Given the description of an element on the screen output the (x, y) to click on. 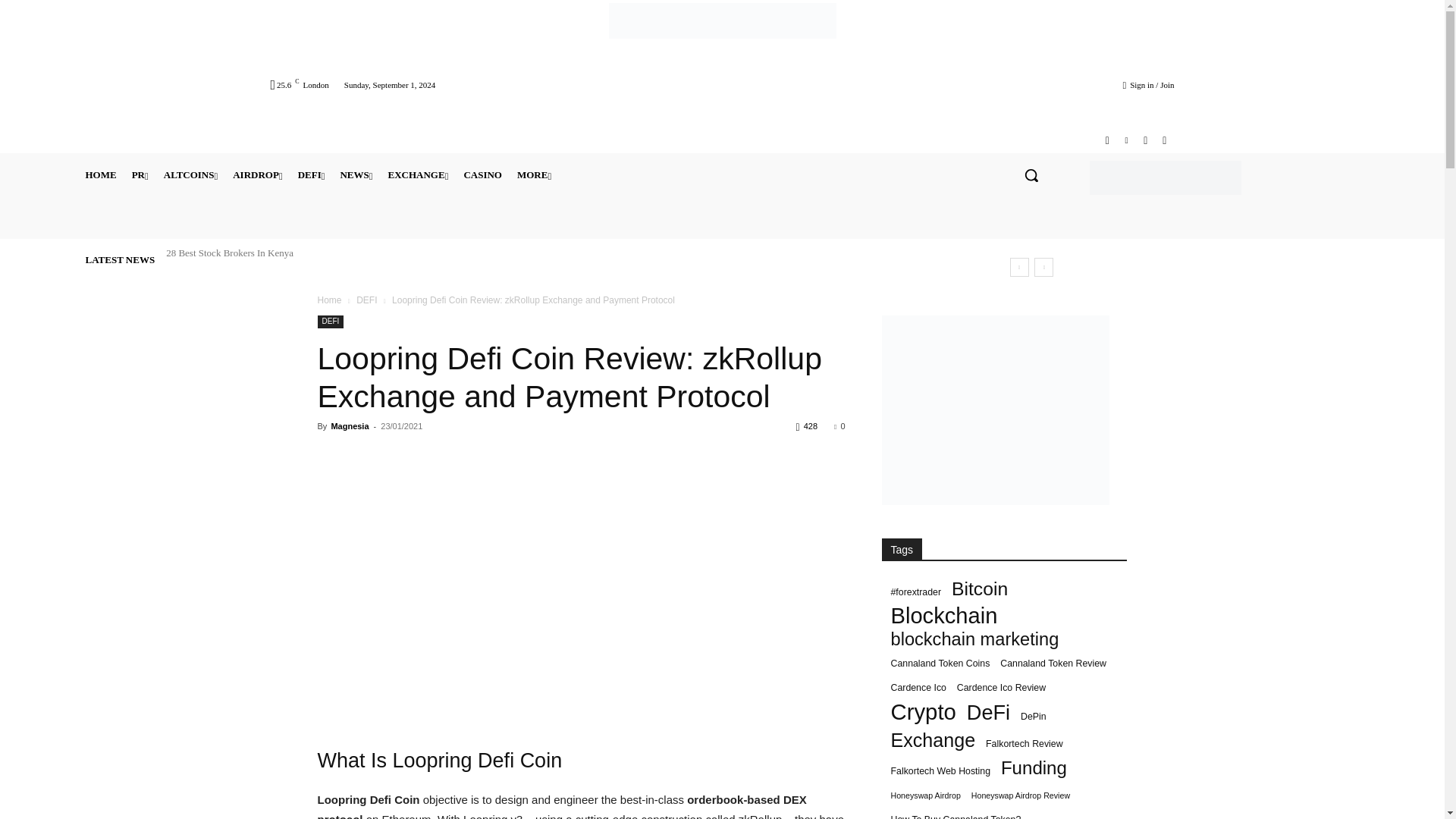
Twitter (1163, 140)
HOME (100, 174)
PR (139, 174)
Skype (1144, 140)
Facebook (1106, 140)
Pinterest (1125, 140)
